Given the description of an element on the screen output the (x, y) to click on. 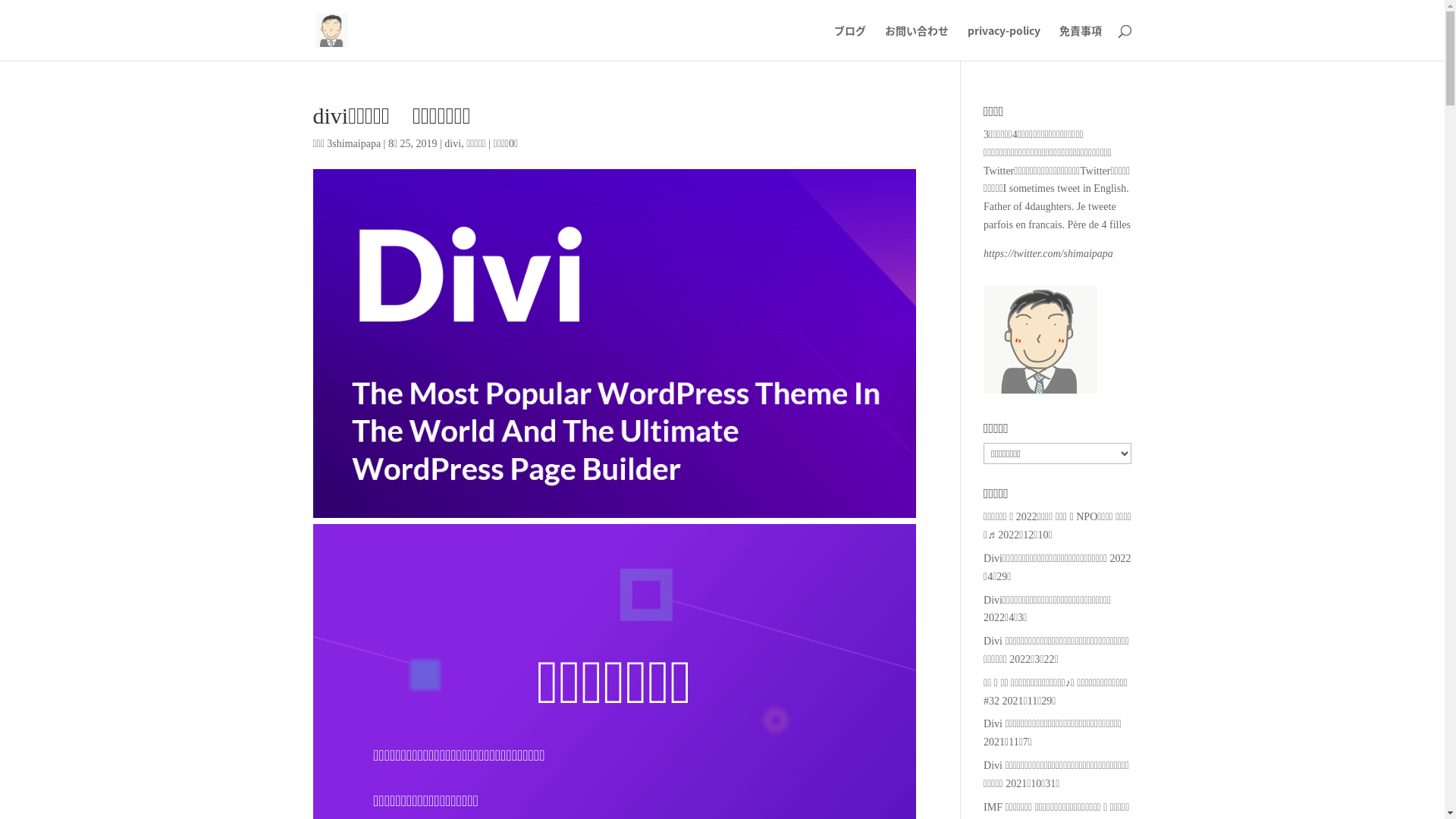
https://twitter.com/shimaipapa Element type: text (1048, 253)
privacy-policy Element type: text (1003, 42)
divi Element type: text (452, 143)
3shimaipapa Element type: text (353, 143)
